Given the description of an element on the screen output the (x, y) to click on. 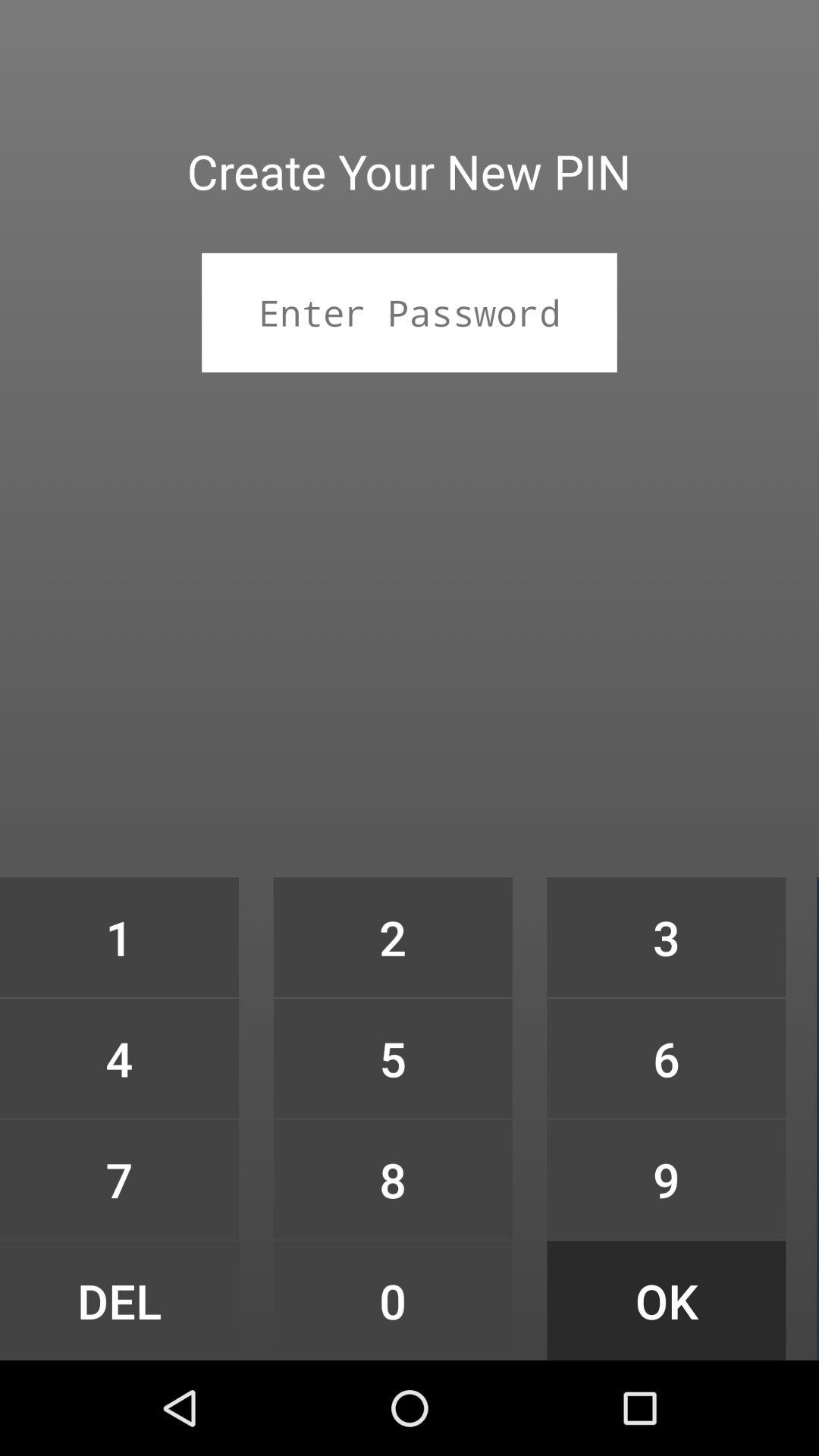
click item next to the 5 (119, 1179)
